Given the description of an element on the screen output the (x, y) to click on. 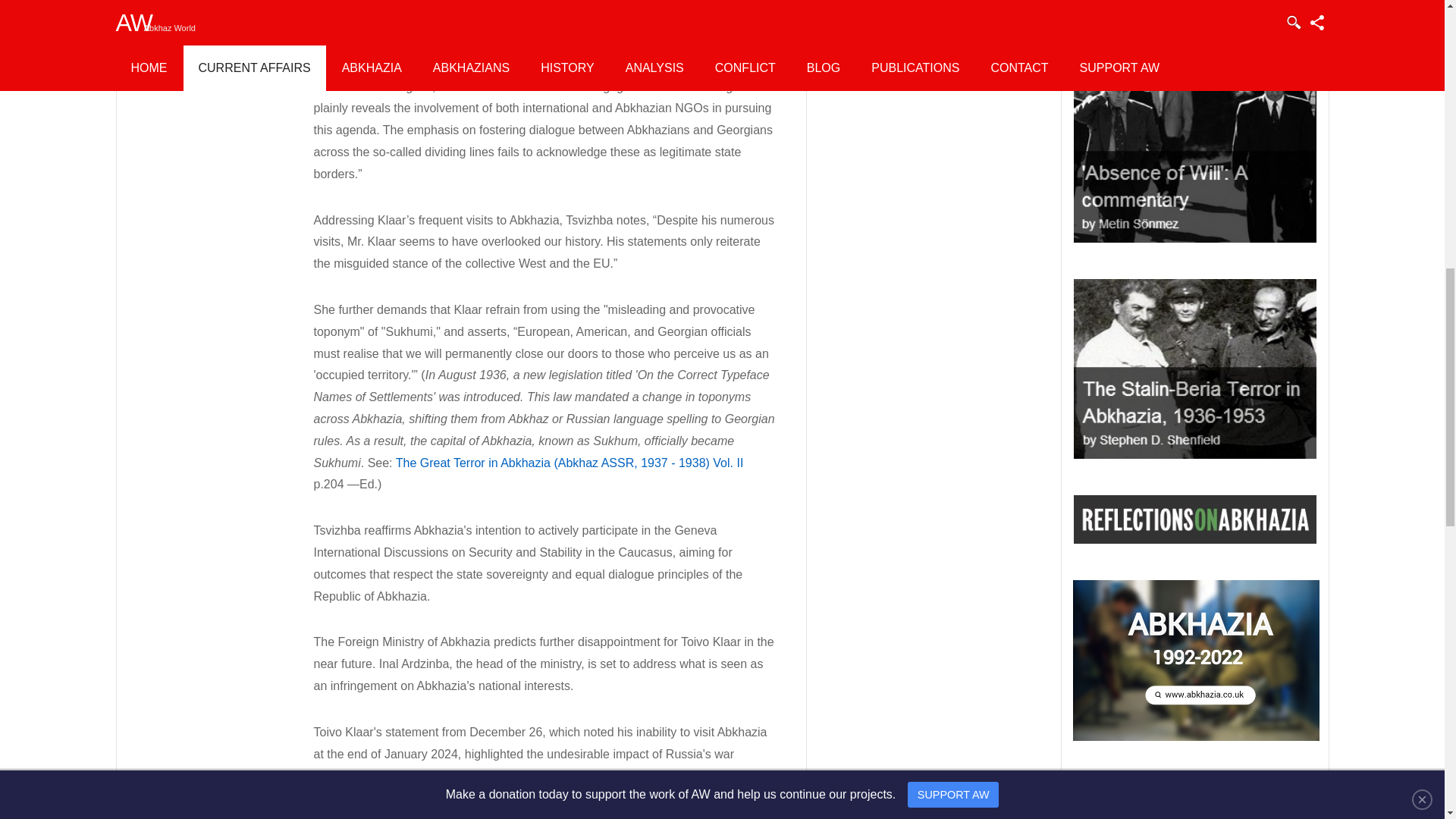
Abkhazia Prepares for 61st Round of Geneva Discussions (934, 19)
